Given the description of an element on the screen output the (x, y) to click on. 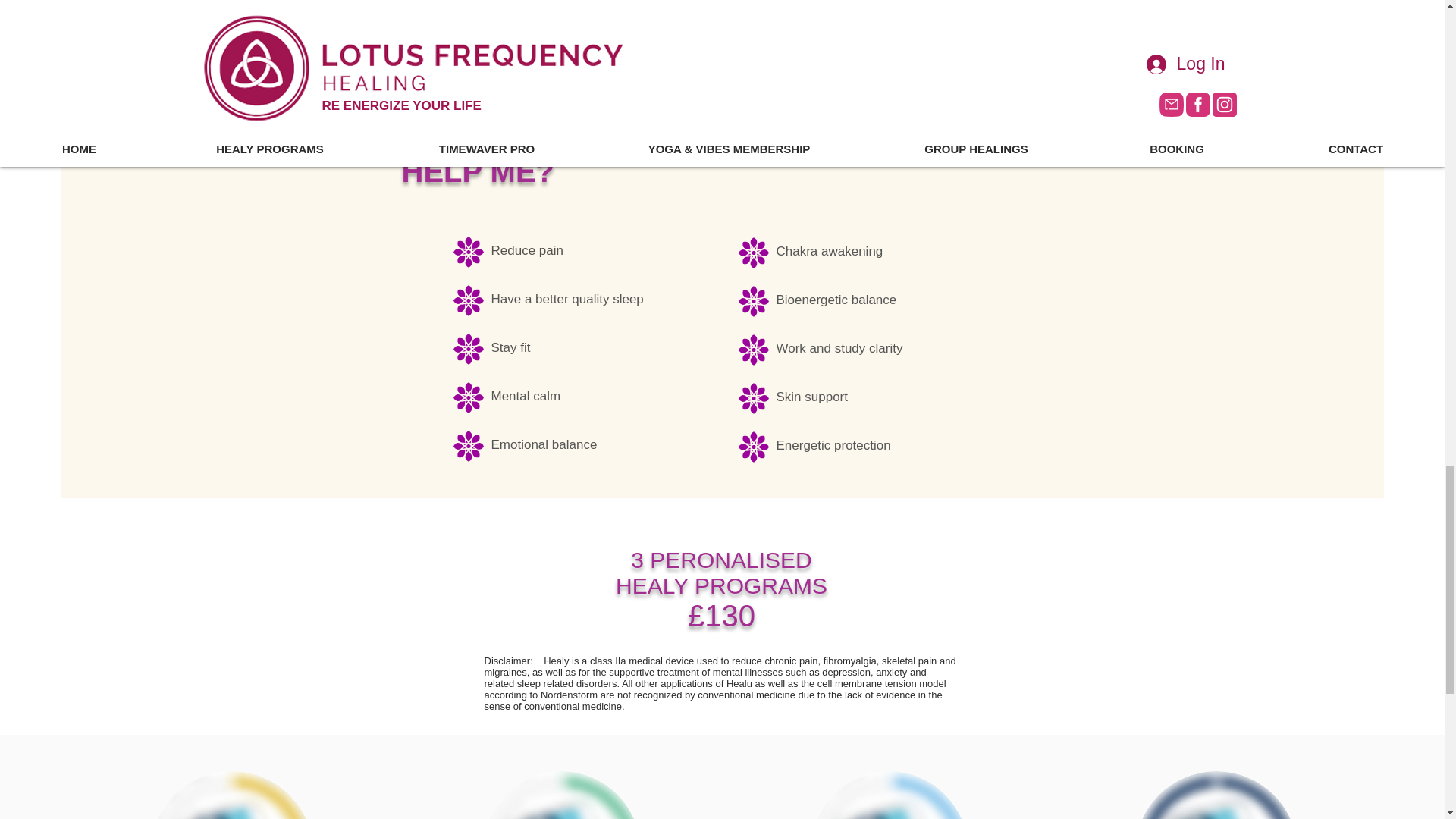
guy3.jpg (721, 572)
guy2.jpg (889, 795)
guy3.jpg (231, 795)
guy4.jpg (561, 795)
